Given the description of an element on the screen output the (x, y) to click on. 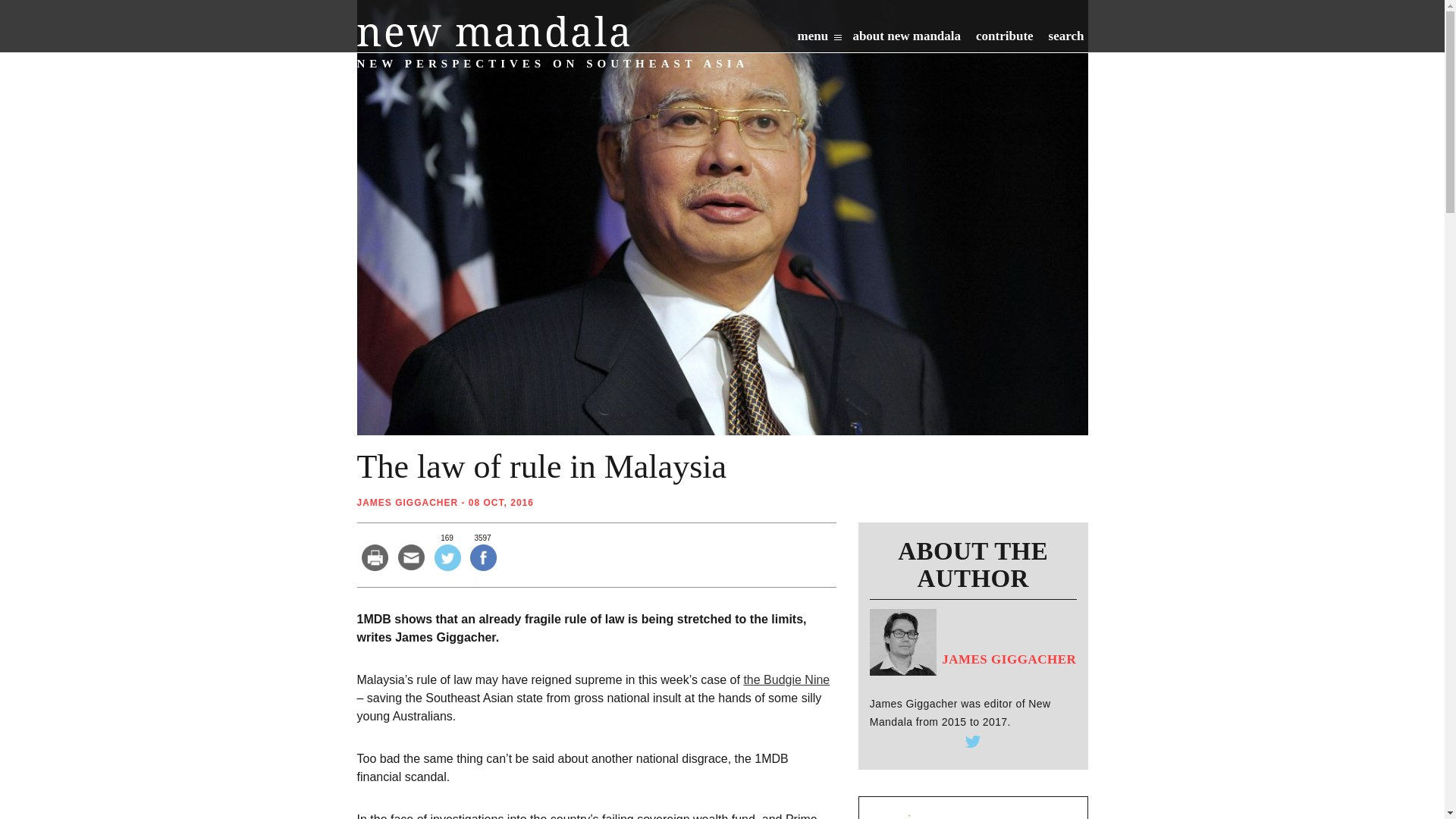
the Budgie Nine (785, 679)
search (1066, 39)
menu (819, 39)
JAMES GIGGACHER (973, 671)
NEW PERSPECTIVES ON SOUTHEAST ASIA (492, 30)
Search (978, 75)
about new mandala (905, 39)
contribute (1004, 39)
JAMES GIGGACHER (407, 502)
